Given the description of an element on the screen output the (x, y) to click on. 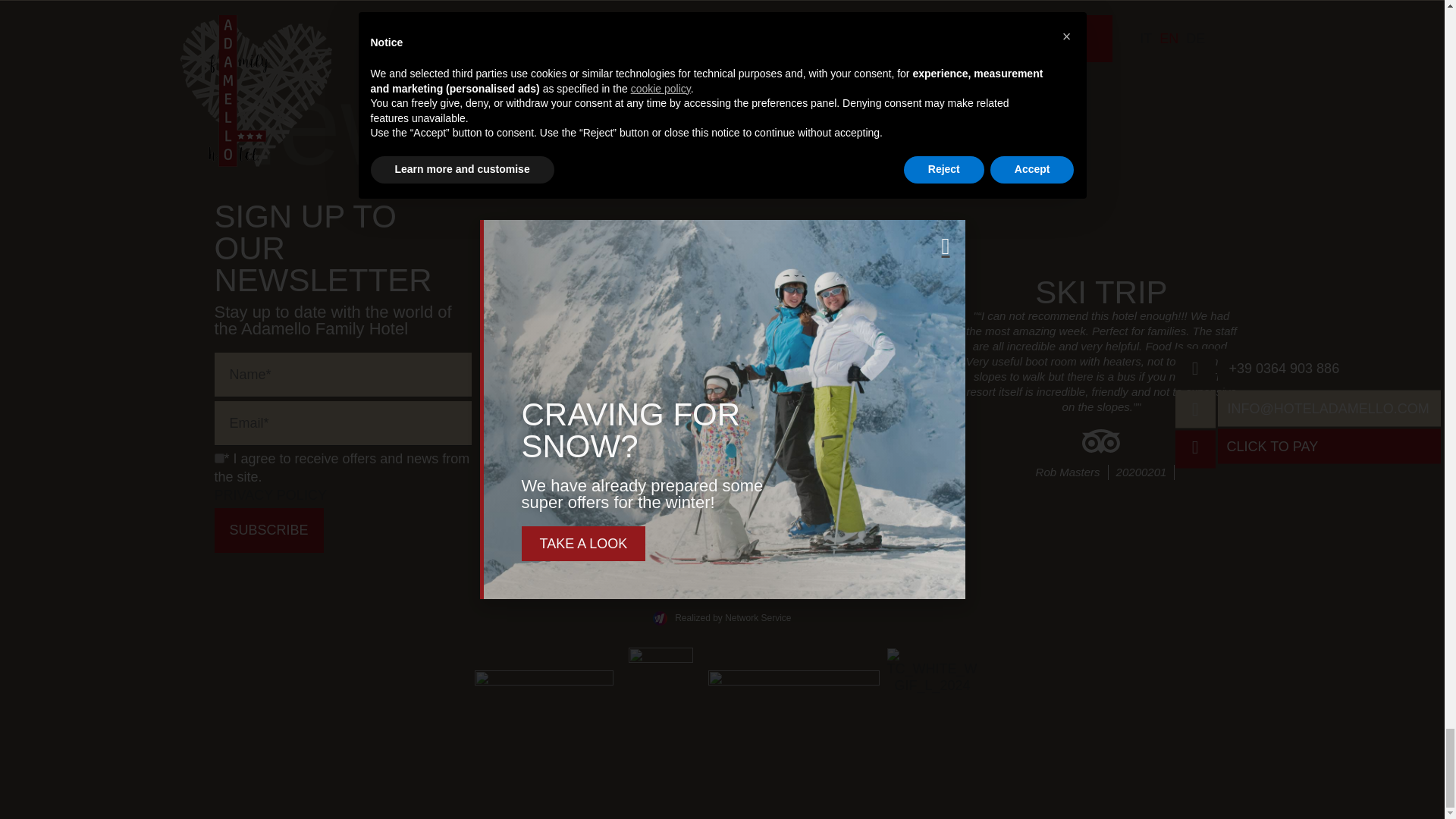
Cookie Policy  (780, 481)
on (219, 458)
Cookie preferences (722, 499)
Privacy Policy  (666, 481)
Privacy Policy  (270, 494)
